Given the description of an element on the screen output the (x, y) to click on. 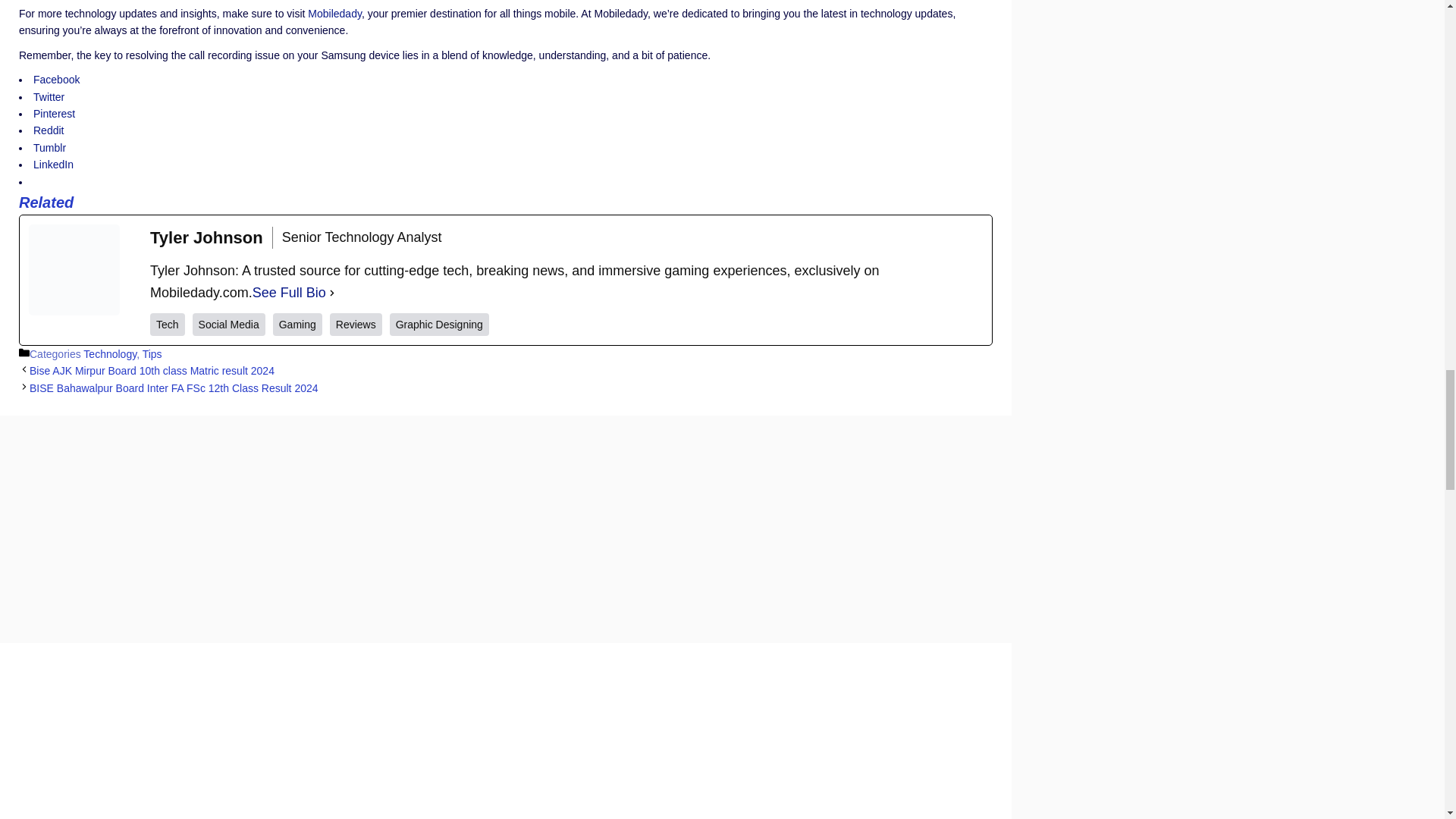
Click to share on LinkedIn (53, 164)
Facebook (56, 79)
Click to share on Tumblr (49, 147)
BISE Bahawalpur Board Inter FA FSc 12th Class Result 2024 (173, 387)
Click to share on Pinterest (54, 113)
Pinterest (54, 113)
See Full Bio (288, 292)
Click to share on Reddit (48, 130)
Reddit (48, 130)
Bise AJK Mirpur Board 10th class Matric result 2024 (152, 370)
Technology (109, 354)
LinkedIn (53, 164)
Tips (151, 354)
Tumblr (49, 147)
